Given the description of an element on the screen output the (x, y) to click on. 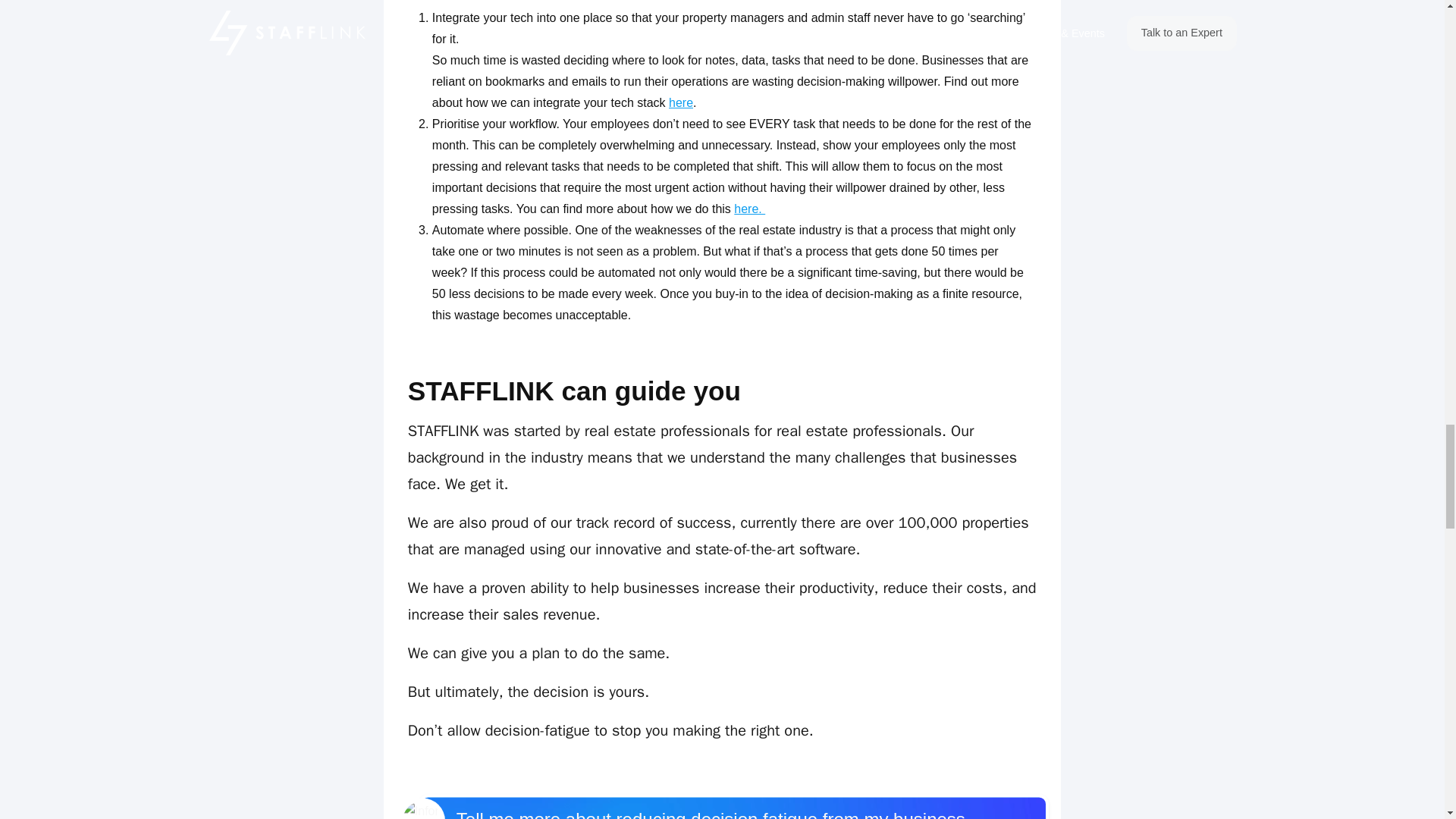
here (680, 102)
here.  (749, 208)
